Given the description of an element on the screen output the (x, y) to click on. 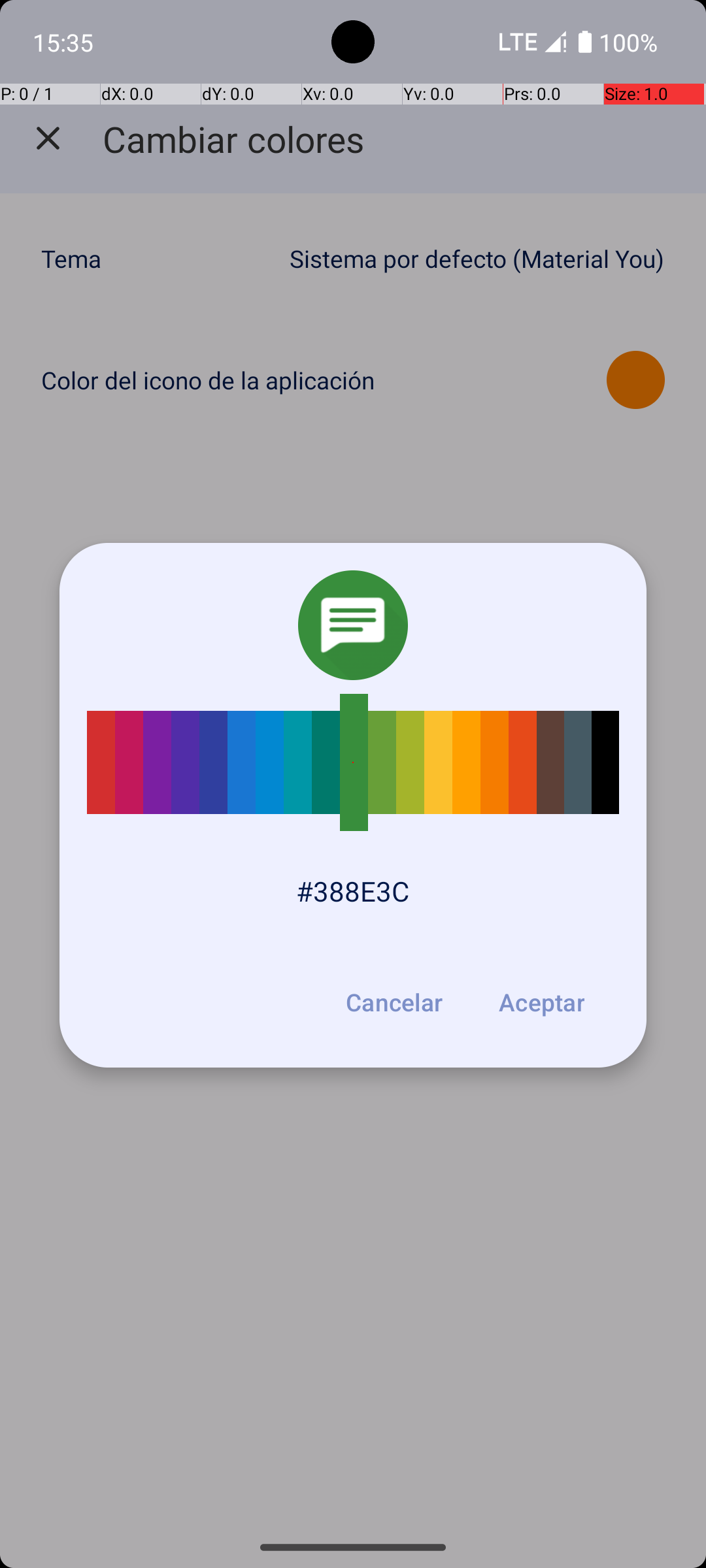
#388E3C Element type: android.widget.TextView (352, 890)
